Given the description of an element on the screen output the (x, y) to click on. 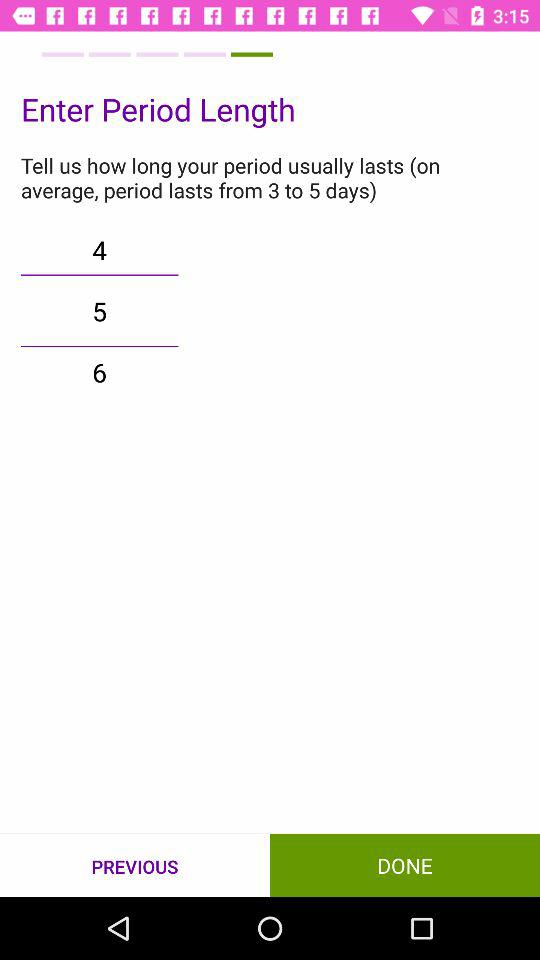
turn on previous at the bottom left corner (135, 865)
